Given the description of an element on the screen output the (x, y) to click on. 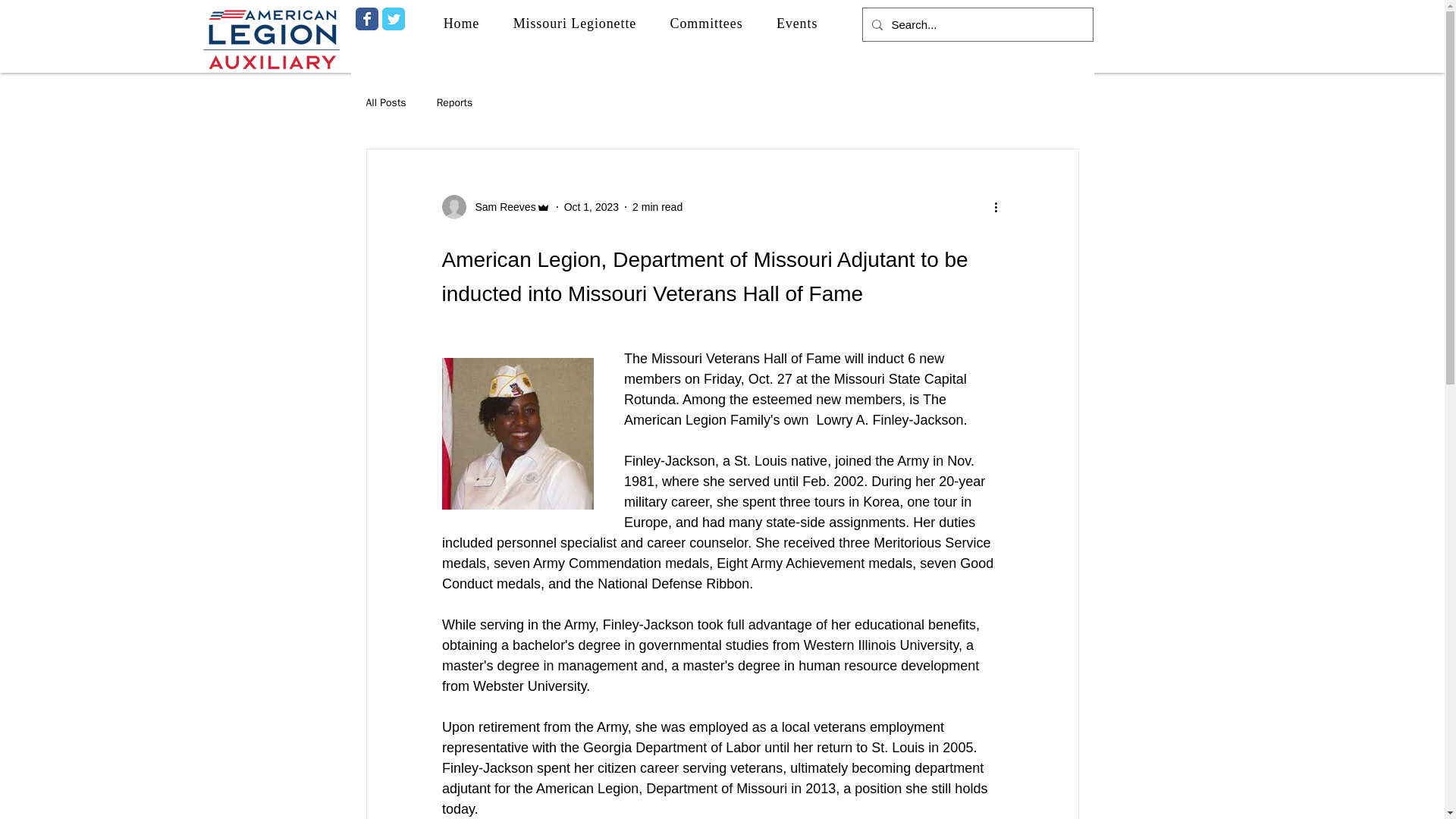
Missouri Legionette (574, 23)
Sam Reeves (495, 206)
Committees (705, 23)
Sam Reeves (500, 206)
Events (796, 23)
Home (461, 23)
All Posts (385, 102)
2 min read (656, 205)
Reports (454, 102)
Oct 1, 2023 (591, 205)
